Given the description of an element on the screen output the (x, y) to click on. 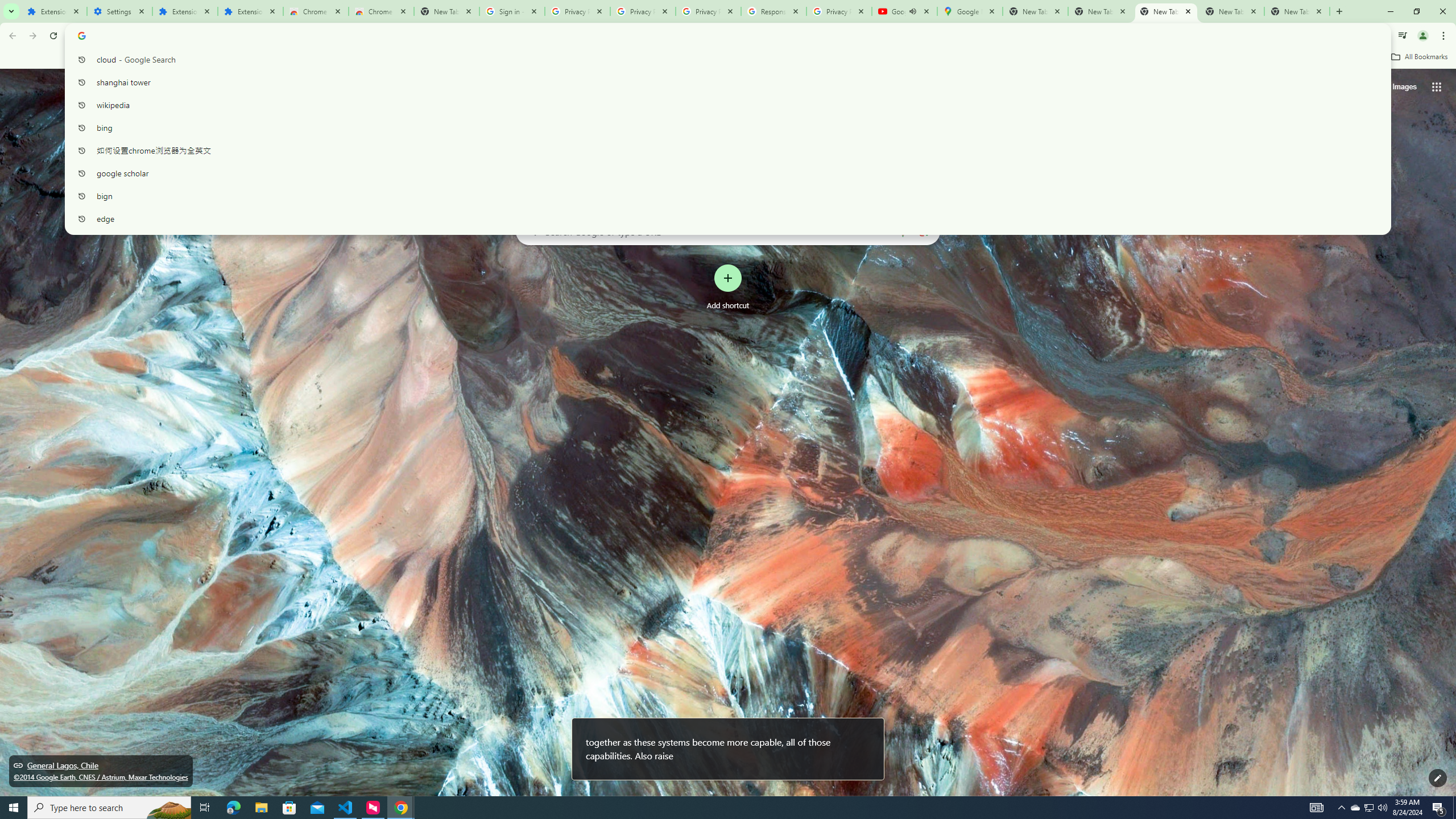
Customize this page (1437, 778)
New Tab (1297, 11)
google scholar search from history (723, 173)
Search Google or type a URL (727, 230)
bing search from history (723, 127)
Bookmarks (728, 58)
Extensions (250, 11)
bign search from history (723, 196)
